Given the description of an element on the screen output the (x, y) to click on. 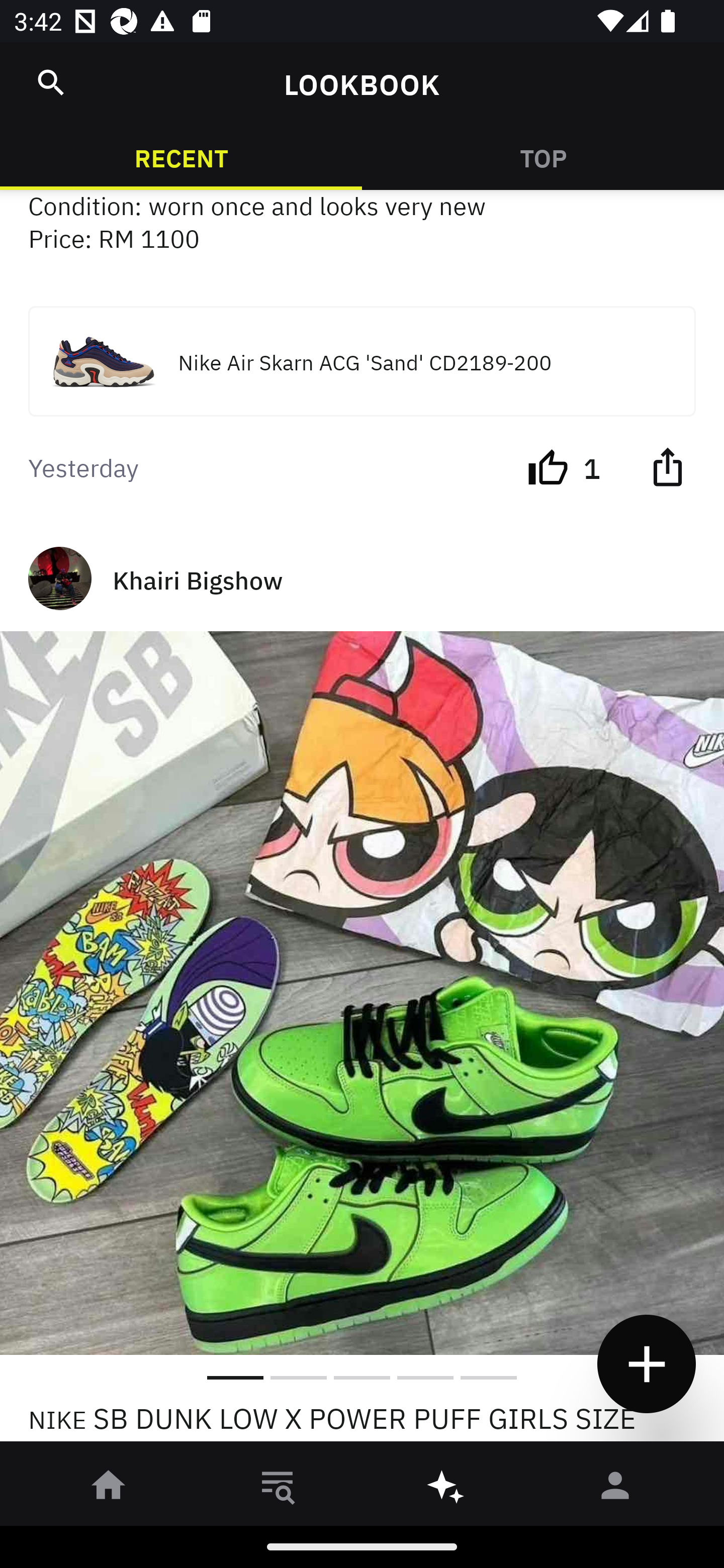
 (51, 82)
RECENT (181, 156)
TOP (543, 156)
Nike Air Skarn ACG 'Sand' CD2189‑200 (362, 361)
󰔔 (547, 465)
 (667, 465)
󰋜 (108, 1488)
󱎸 (277, 1488)
󰫢 (446, 1488)
󰀄 (615, 1488)
